Given the description of an element on the screen output the (x, y) to click on. 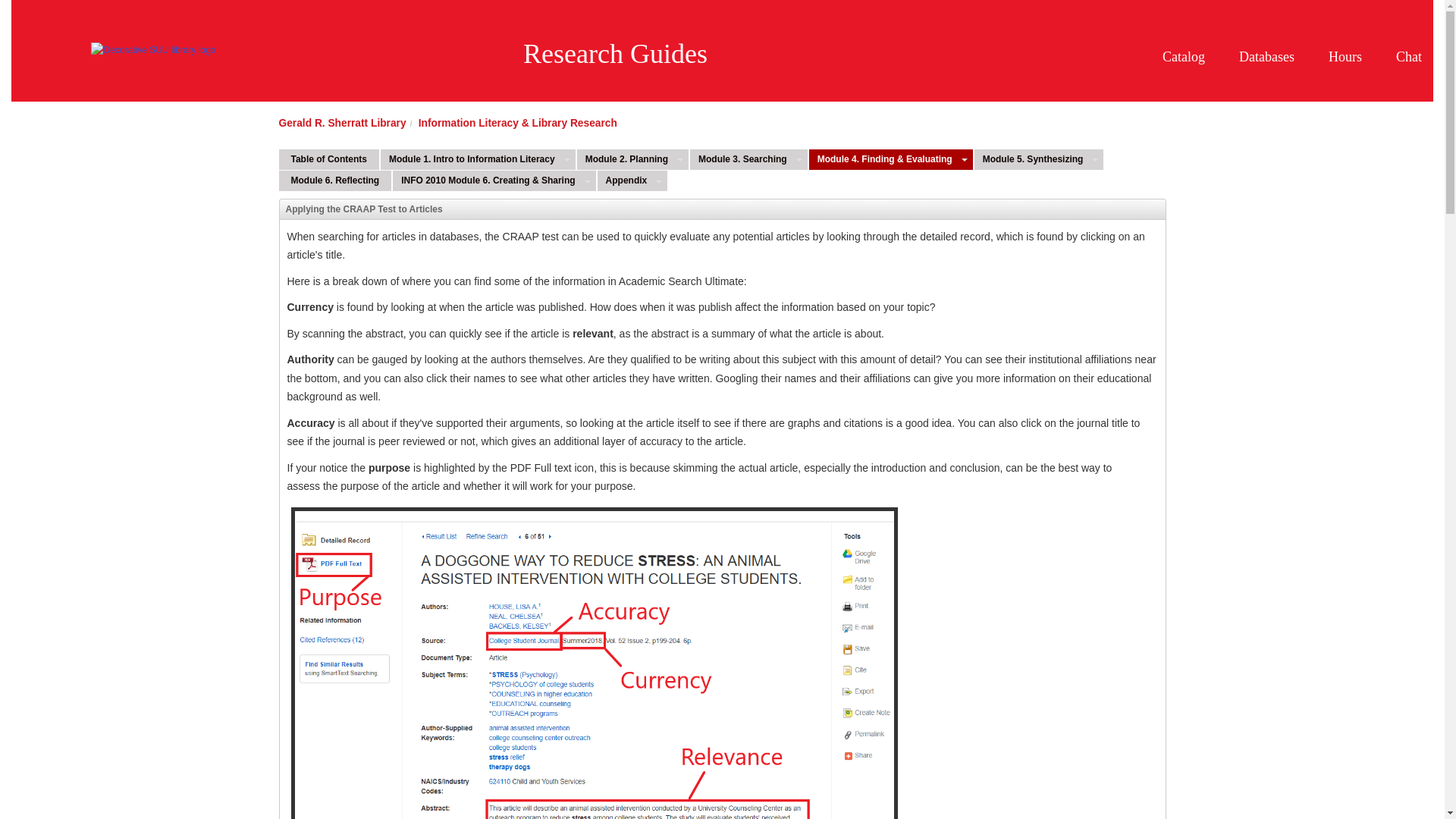
Databases (1273, 34)
Module 1. Intro to Information Literacy (469, 159)
Research Guides (614, 53)
Module 2. Planning (624, 159)
Table of Contents (328, 159)
Module 3. Searching (741, 159)
Gerald R. Sherratt Library (342, 122)
